Given the description of an element on the screen output the (x, y) to click on. 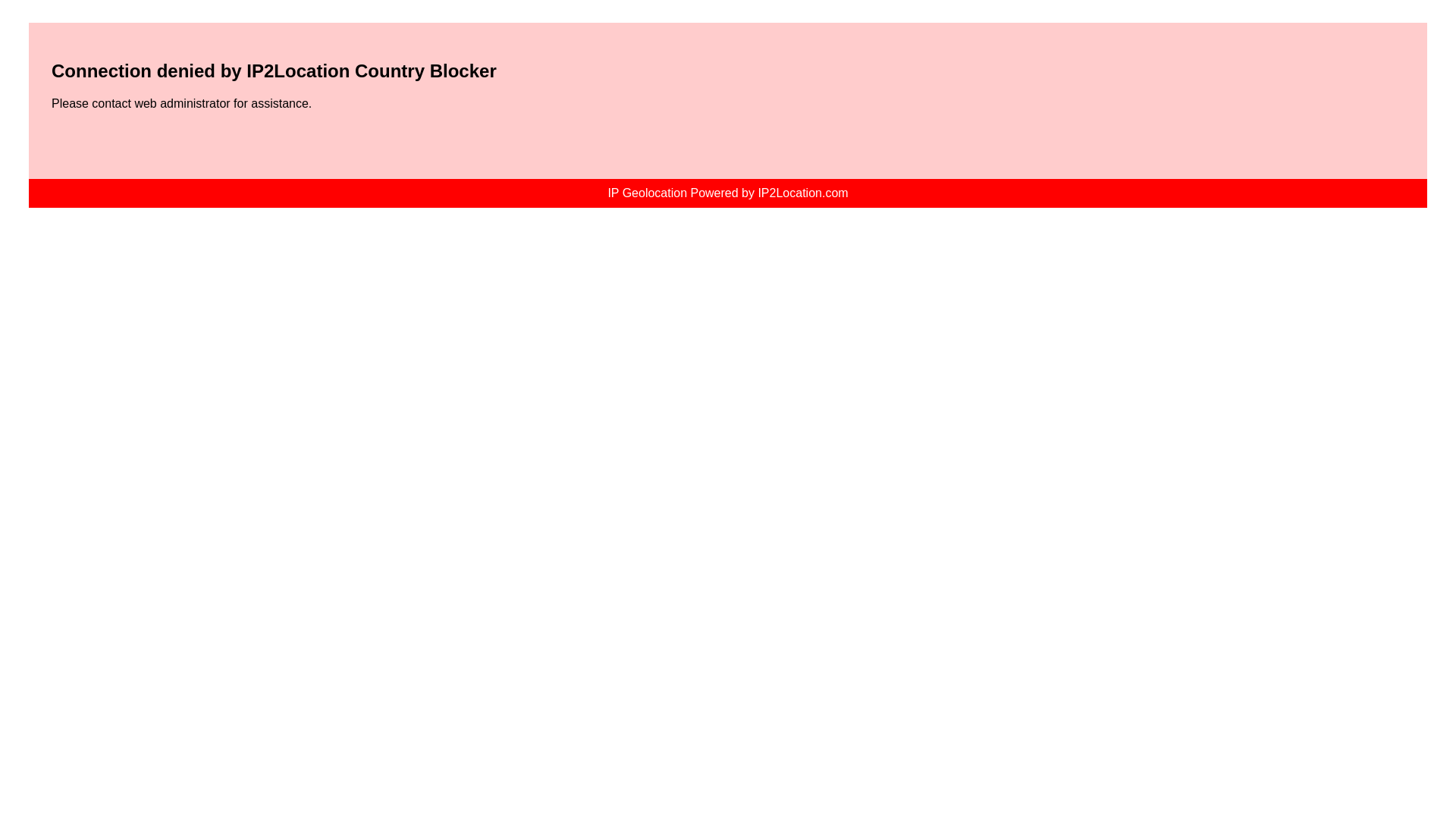
IP Geolocation Powered by IP2Location.com (727, 192)
